Given the description of an element on the screen output the (x, y) to click on. 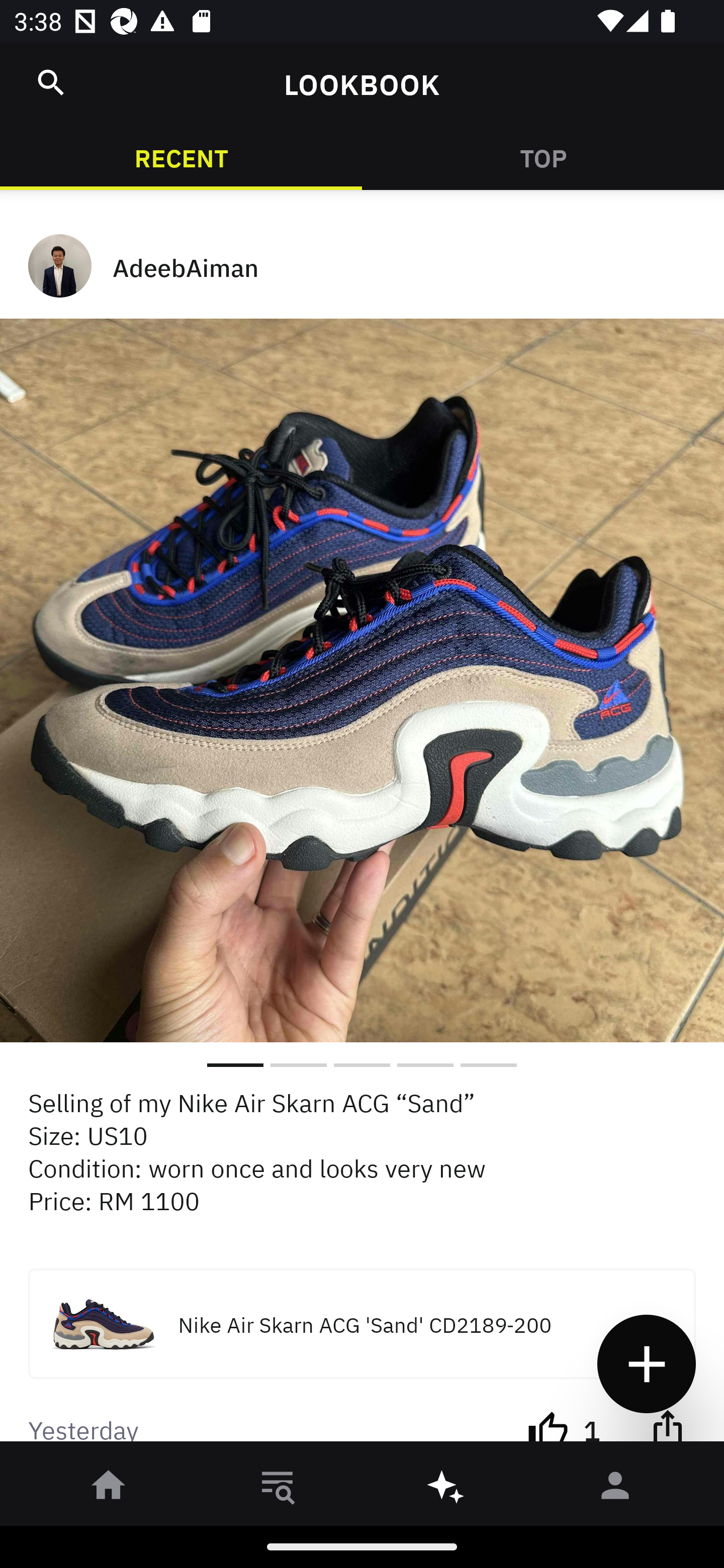
 (51, 82)
RECENT (181, 156)
TOP (543, 156)
Nike Air Skarn ACG 'Sand' CD2189‑200 (362, 1323)
󰔔 (547, 1425)
 (667, 1425)
󰋜 (108, 1488)
󱎸 (277, 1488)
󰫢 (446, 1488)
󰀄 (615, 1488)
